Given the description of an element on the screen output the (x, y) to click on. 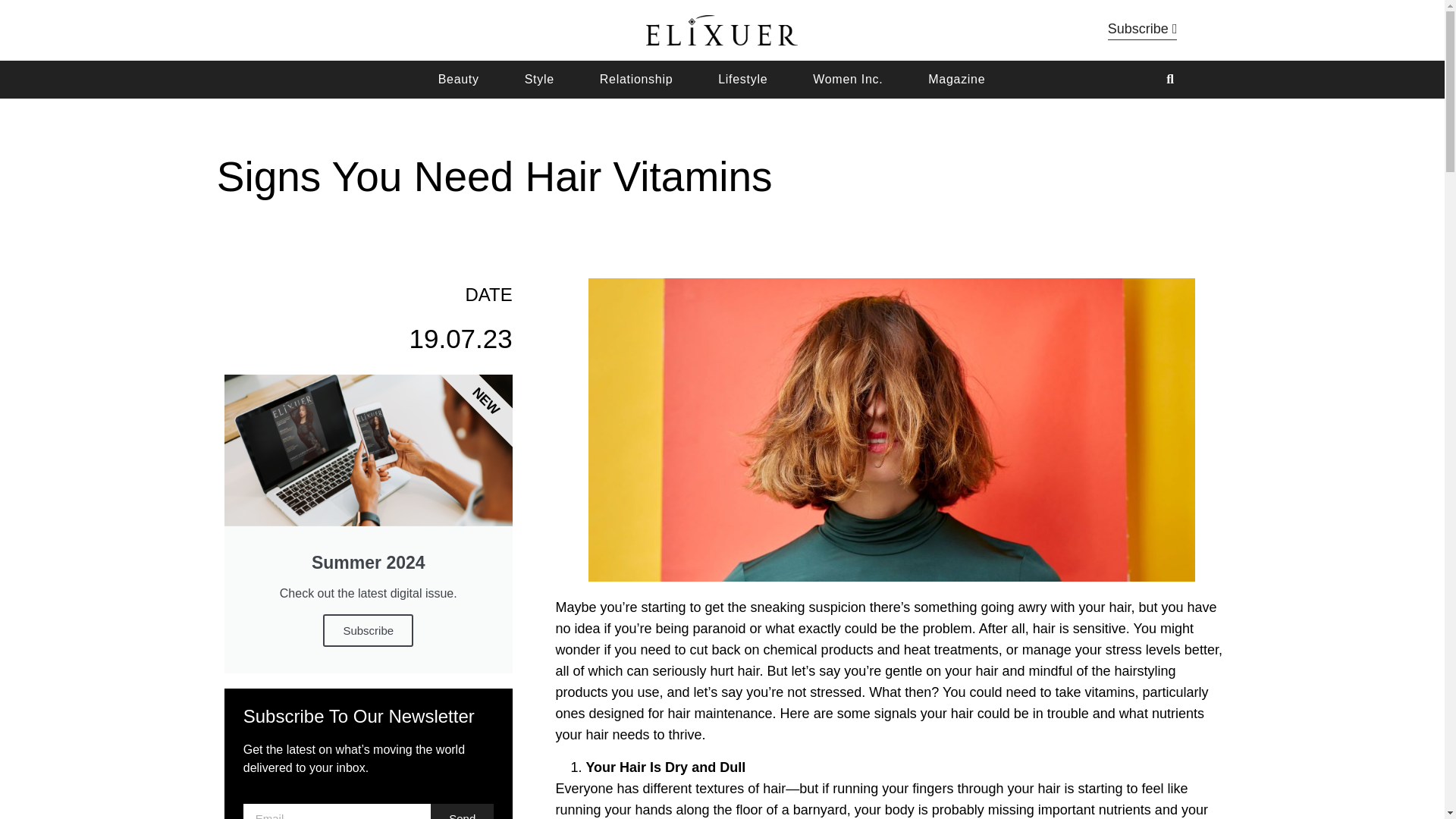
Beauty (458, 79)
Magazine (956, 79)
Relationship (635, 79)
Subscribe (1142, 29)
Subscribe (368, 630)
Style (539, 79)
Lifestyle (742, 79)
Send (461, 811)
Women Inc. (847, 79)
